Given the description of an element on the screen output the (x, y) to click on. 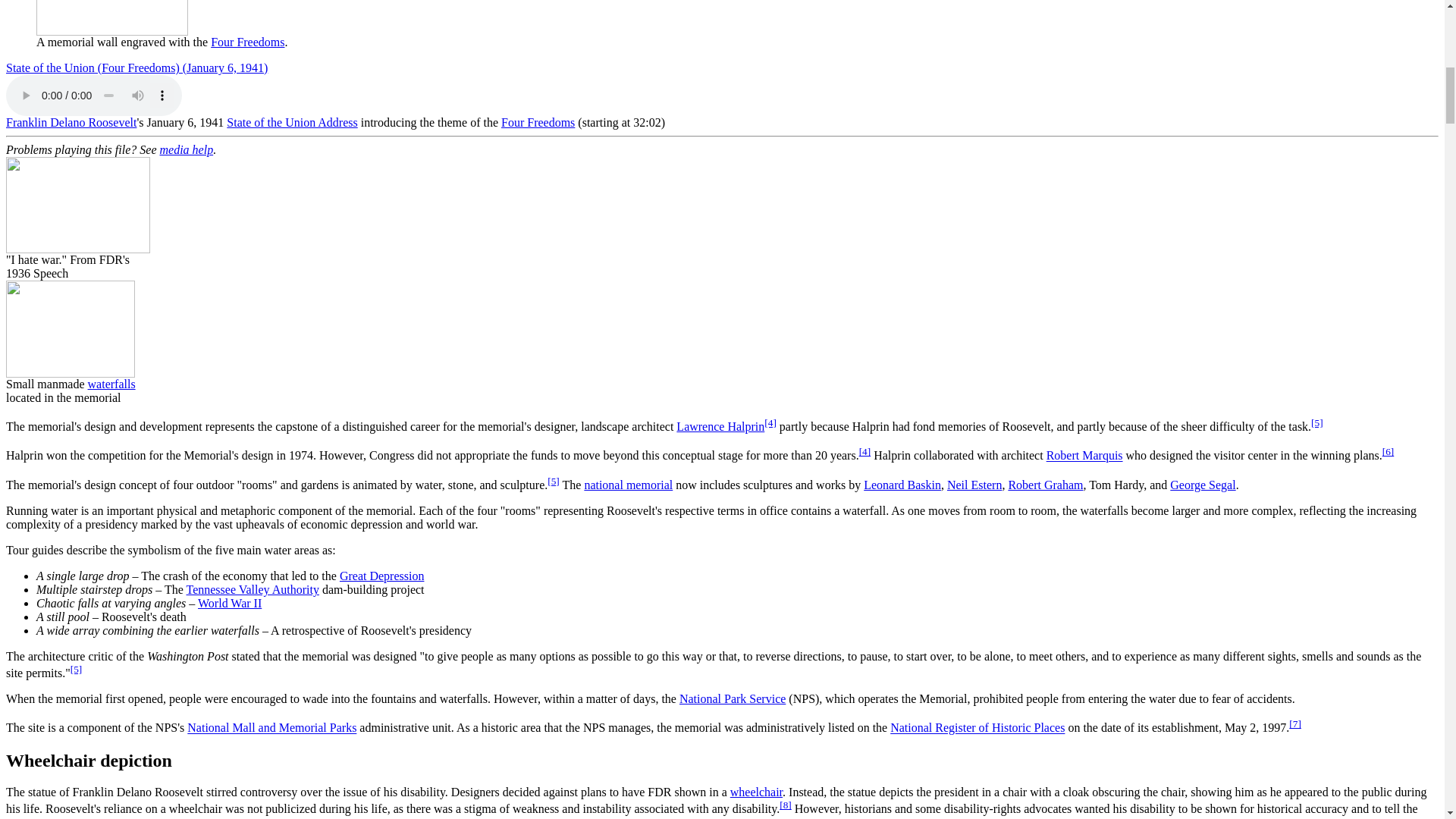
Franklin Delano Roosevelt (70, 122)
Four Freedoms (247, 42)
Four Freedoms (537, 122)
State of the Union Address (291, 122)
